Given the description of an element on the screen output the (x, y) to click on. 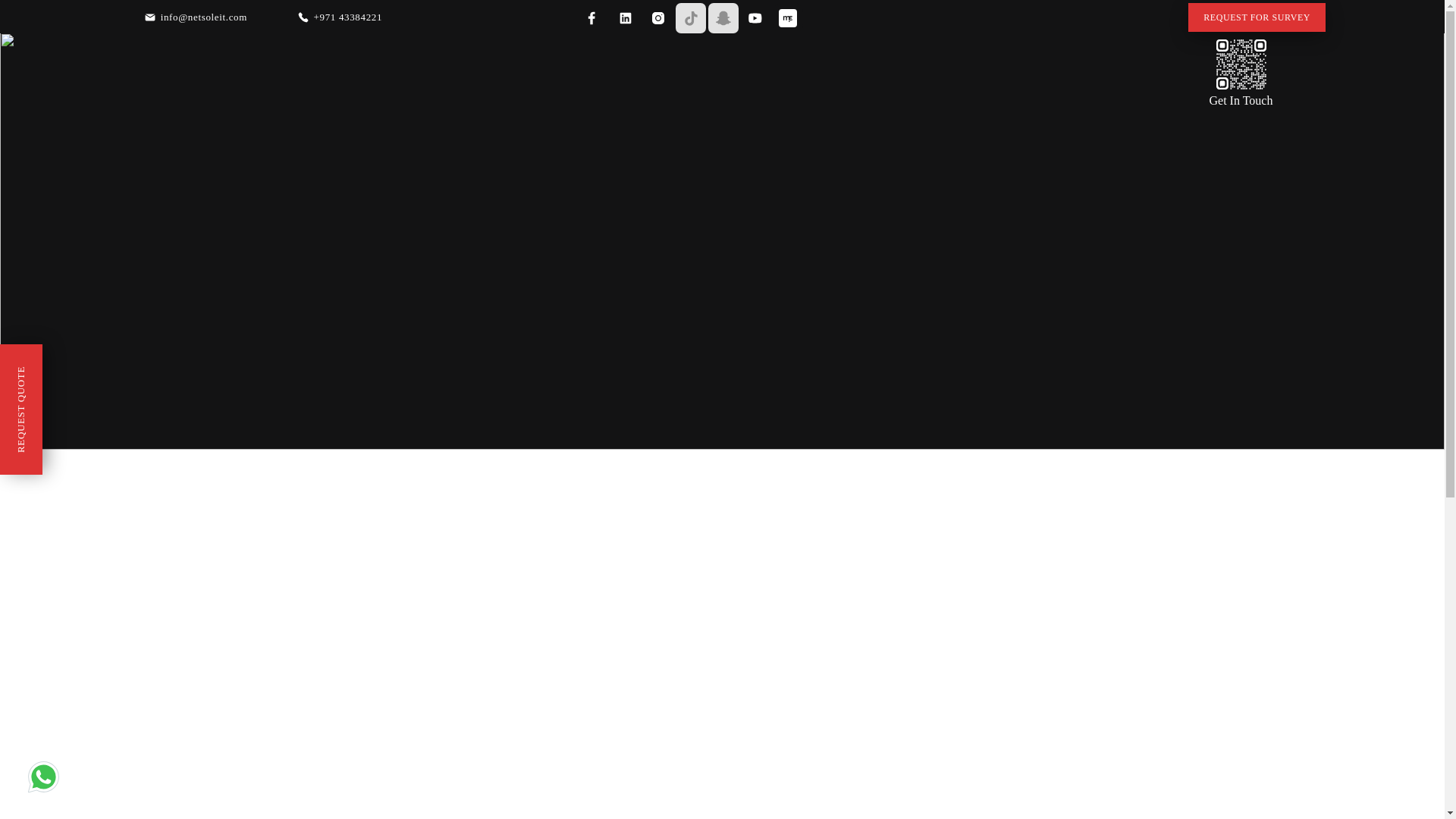
REQUEST FOR SURVEY (1256, 17)
Get In Touch (1240, 100)
REQUEST QUOTE (65, 364)
